Given the description of an element on the screen output the (x, y) to click on. 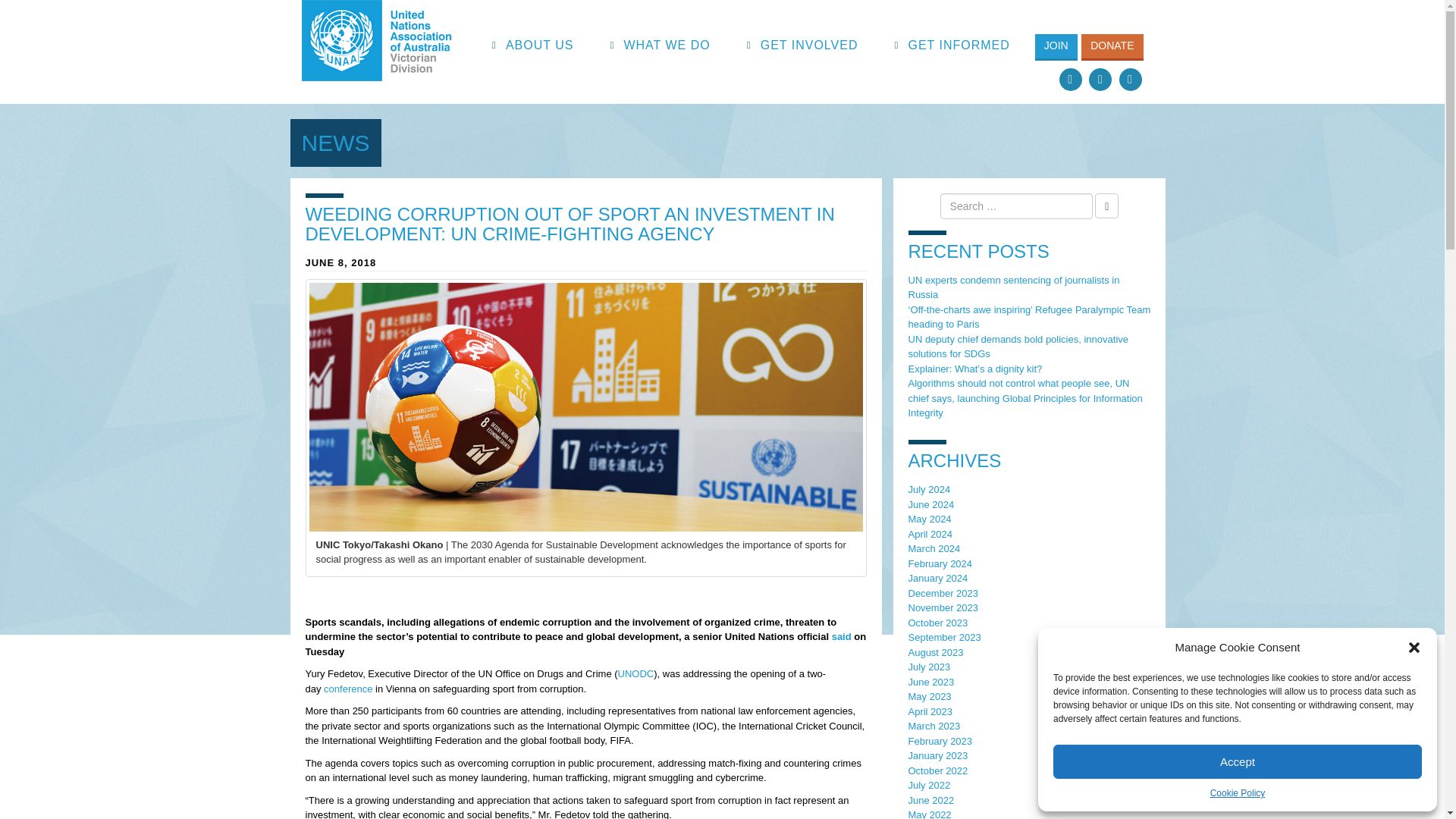
GET INVOLVED (809, 45)
GET INFORMED (958, 45)
Cookie Policy (1237, 793)
Accept (1237, 761)
ABOUT US (539, 45)
WHAT WE DO (666, 45)
